Given the description of an element on the screen output the (x, y) to click on. 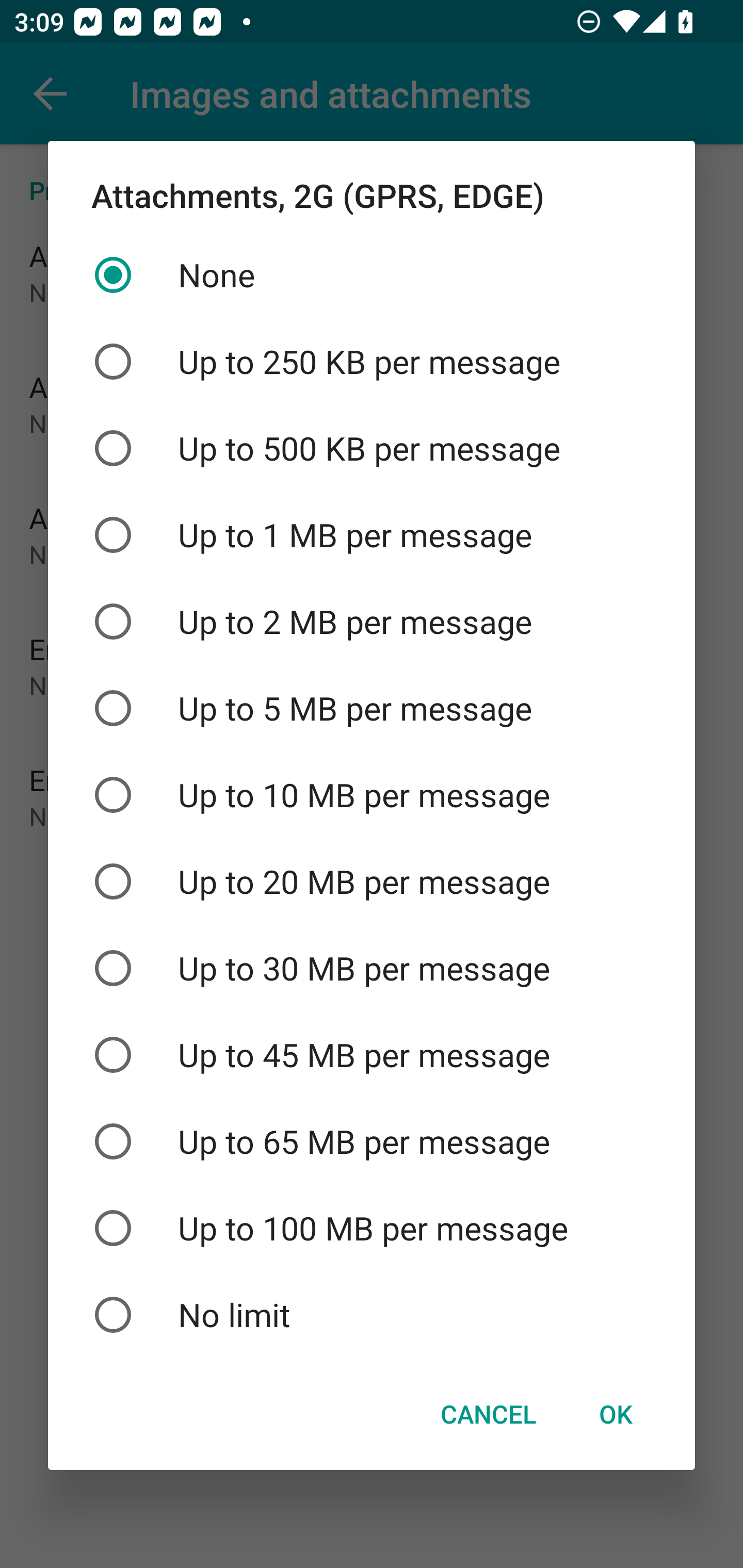
None (371, 275)
Up to 250 KB per message (371, 361)
Up to 500 KB per message (371, 447)
Up to 1 MB per message (371, 534)
Up to 2 MB per message (371, 621)
Up to 5 MB per message (371, 707)
Up to 10 MB per message (371, 794)
Up to 20 MB per message (371, 881)
Up to 30 MB per message (371, 968)
Up to 45 MB per message (371, 1054)
Up to 65 MB per message (371, 1141)
Up to 100 MB per message (371, 1228)
No limit (371, 1314)
CANCEL (488, 1413)
OK (615, 1413)
